Given the description of an element on the screen output the (x, y) to click on. 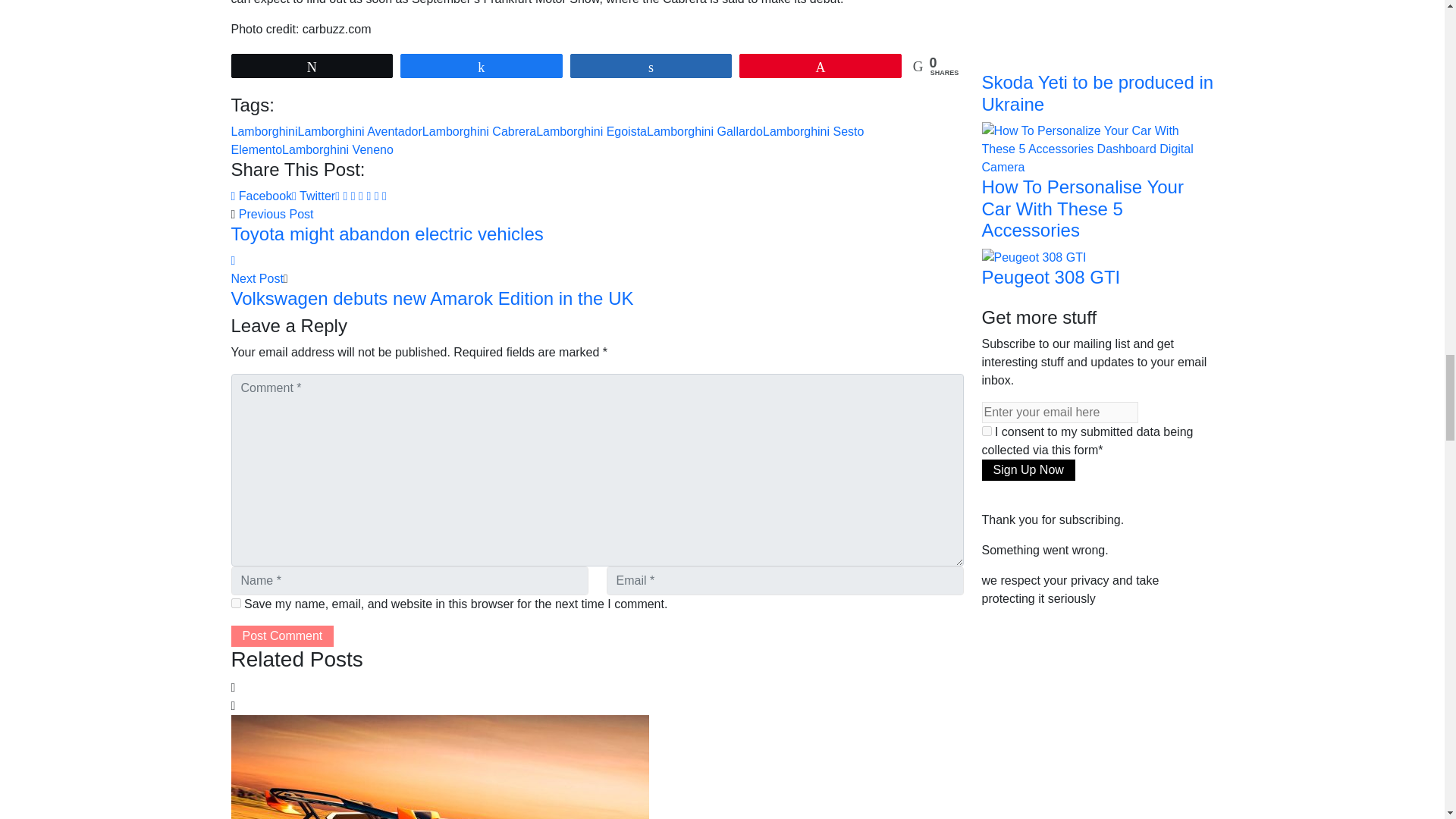
Peugeot 308 GTI (1033, 256)
yes (235, 603)
on (986, 430)
Sign Up Now (1027, 469)
Post Comment (281, 636)
How To Personalise Your Car With These 5 Accessories (1096, 147)
